Given the description of an element on the screen output the (x, y) to click on. 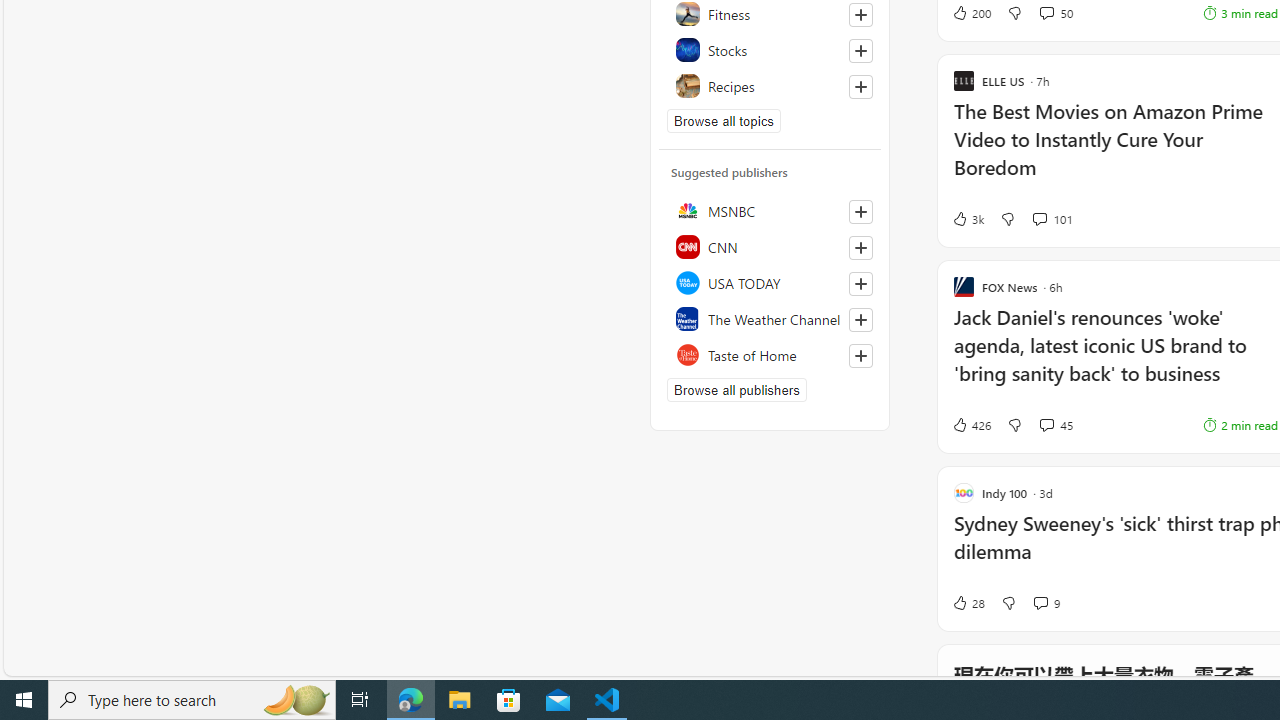
Stocks (770, 49)
3k Like (967, 219)
View comments 9 Comment (1045, 602)
View comments 9 Comment (1040, 602)
View comments 101 Comment (1051, 219)
Browse all topics (724, 120)
Browse all publishers (736, 389)
Follow this topic (860, 86)
View comments 101 Comment (1039, 218)
426 Like (970, 425)
View comments 50 Comment (1055, 12)
Taste of Home (770, 354)
Follow this source (860, 355)
